Given the description of an element on the screen output the (x, y) to click on. 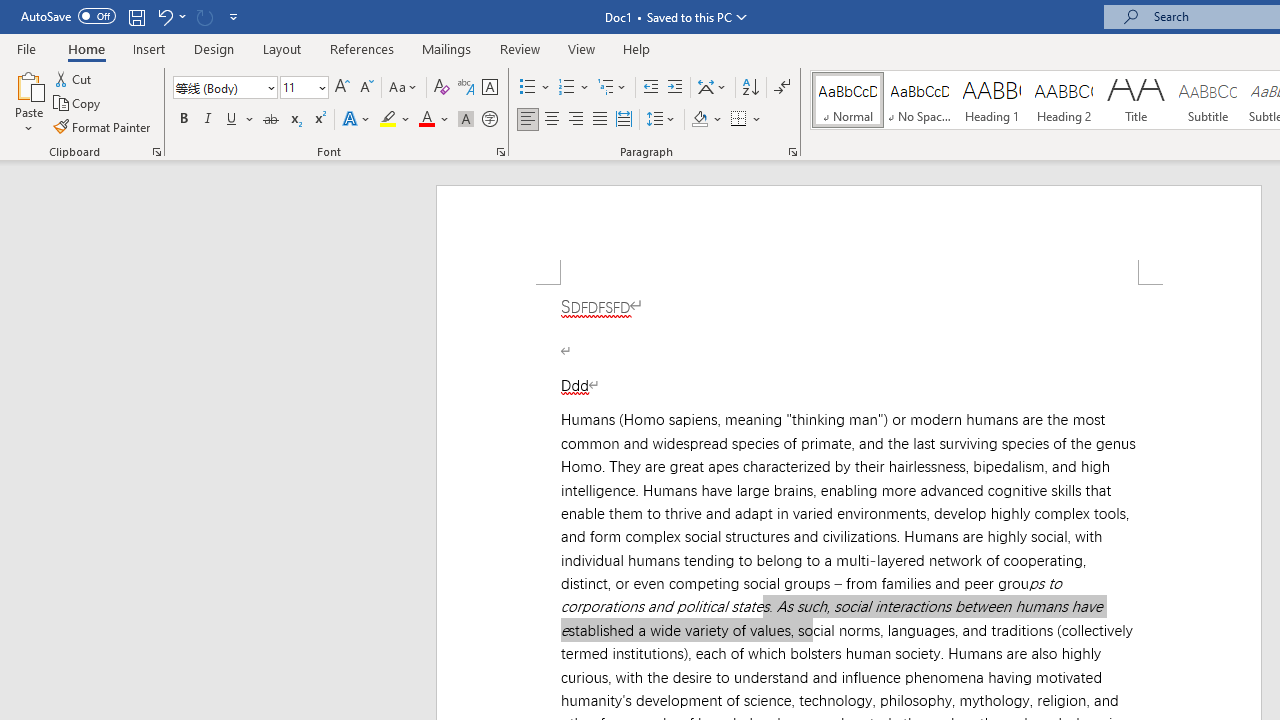
Change Case (404, 87)
Italic (207, 119)
Heading 2 (1063, 100)
Numbering (566, 87)
System (10, 11)
